Given the description of an element on the screen output the (x, y) to click on. 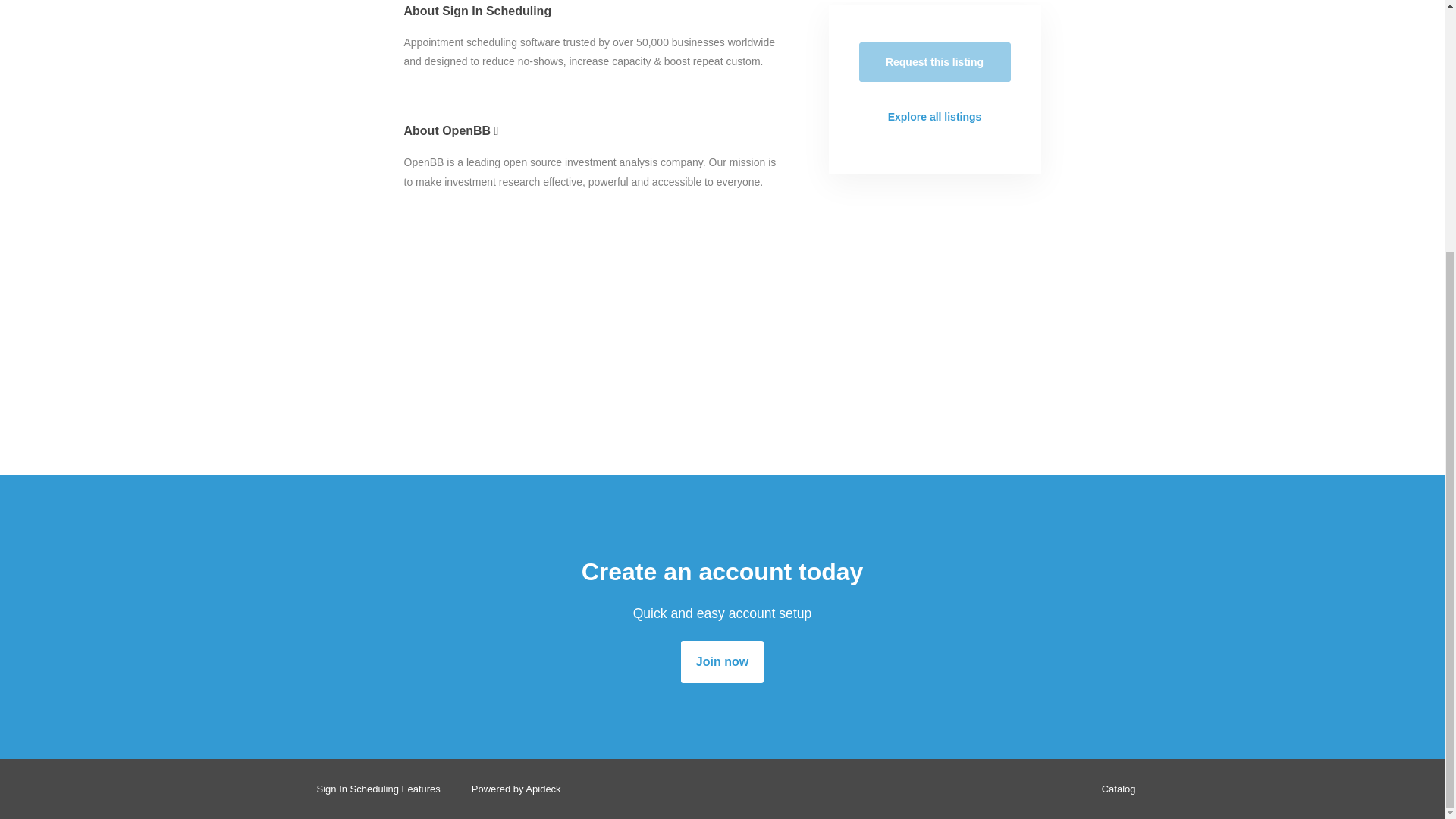
Sign In Scheduling Features (374, 789)
Catalog (1115, 789)
Join now (721, 661)
Powered by Apideck (512, 789)
Request this listing (934, 61)
Explore all listings (934, 116)
